Given the description of an element on the screen output the (x, y) to click on. 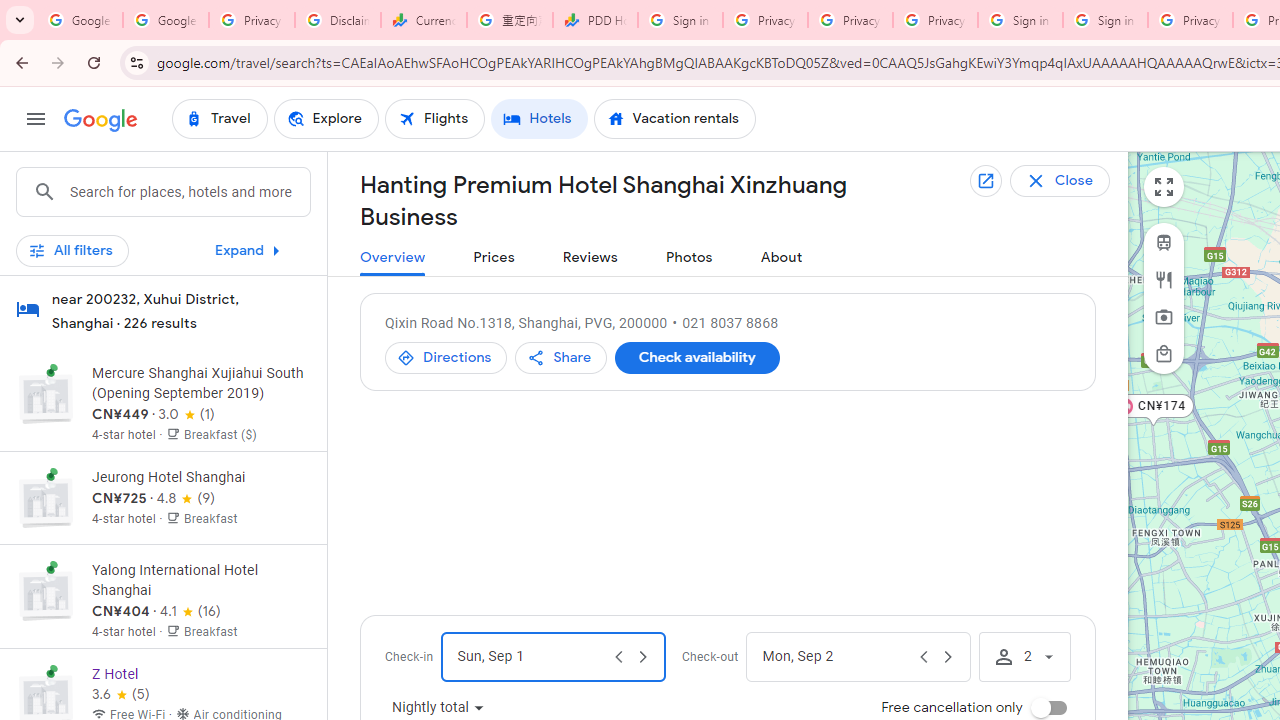
3.6 out of 5 stars from 5 reviews (120, 694)
Reviews (589, 258)
Areas for dining (1163, 279)
Sign in - Google Accounts (680, 20)
Skip to main content (163, 259)
Number of travelers. Current number of travelers is 2. (1024, 656)
Expand (251, 250)
Explore (325, 118)
Travel (219, 118)
